Given the description of an element on the screen output the (x, y) to click on. 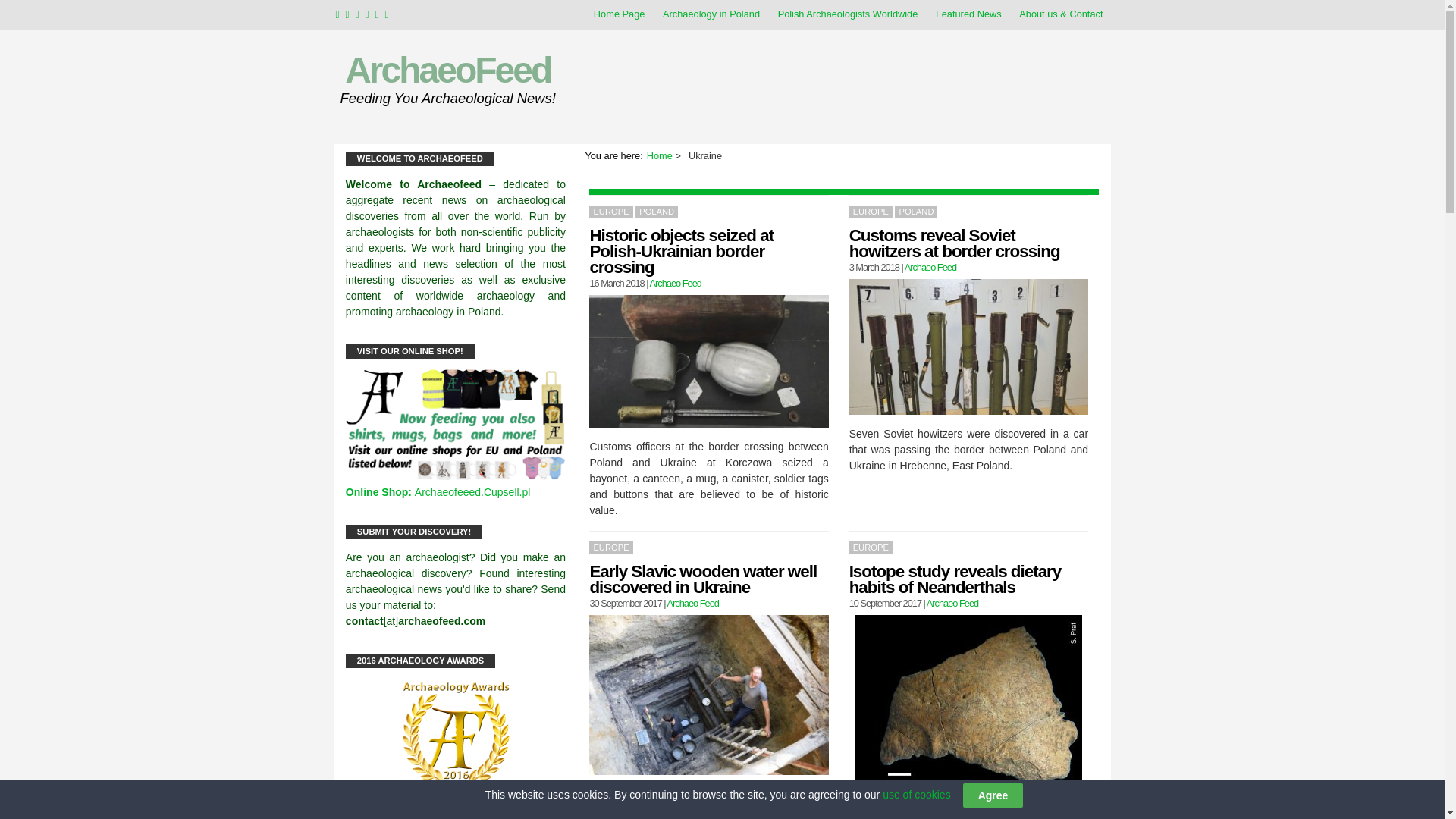
EUROPE (610, 211)
Archaeo Feed (692, 603)
Sunday, Sep 10, 2017, 1:00 am (884, 603)
Posts by Archaeo Feed (952, 603)
Historic objects seized at Polish-Ukrainian border crossing (681, 251)
EUROPE (610, 547)
POLAND (656, 211)
ArchaeoFeed (447, 69)
Home (659, 155)
Archaeo Feed (674, 283)
Saturday, Mar 3, 2018, 1:01 am (873, 266)
Archaeo Feed (952, 603)
EUROPE (870, 211)
Early Slavic wooden water well discovered in Ukraine (702, 579)
Home Page (619, 13)
